Given the description of an element on the screen output the (x, y) to click on. 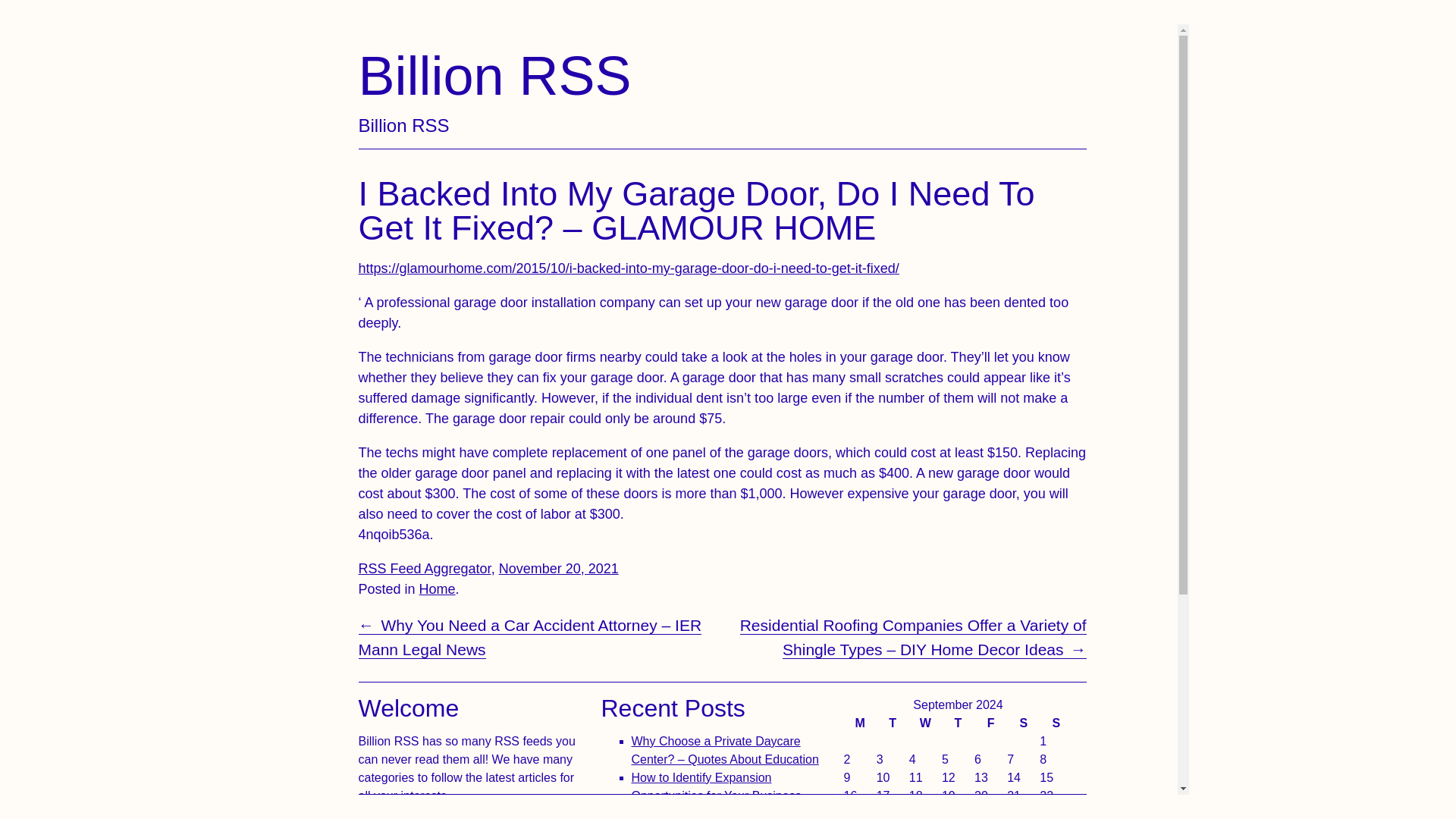
Home (558, 568)
Skip to content (437, 589)
Tuesday (715, 786)
Billion RSS (892, 723)
RSS Feed Aggregator (494, 75)
Monday (424, 568)
